Given the description of an element on the screen output the (x, y) to click on. 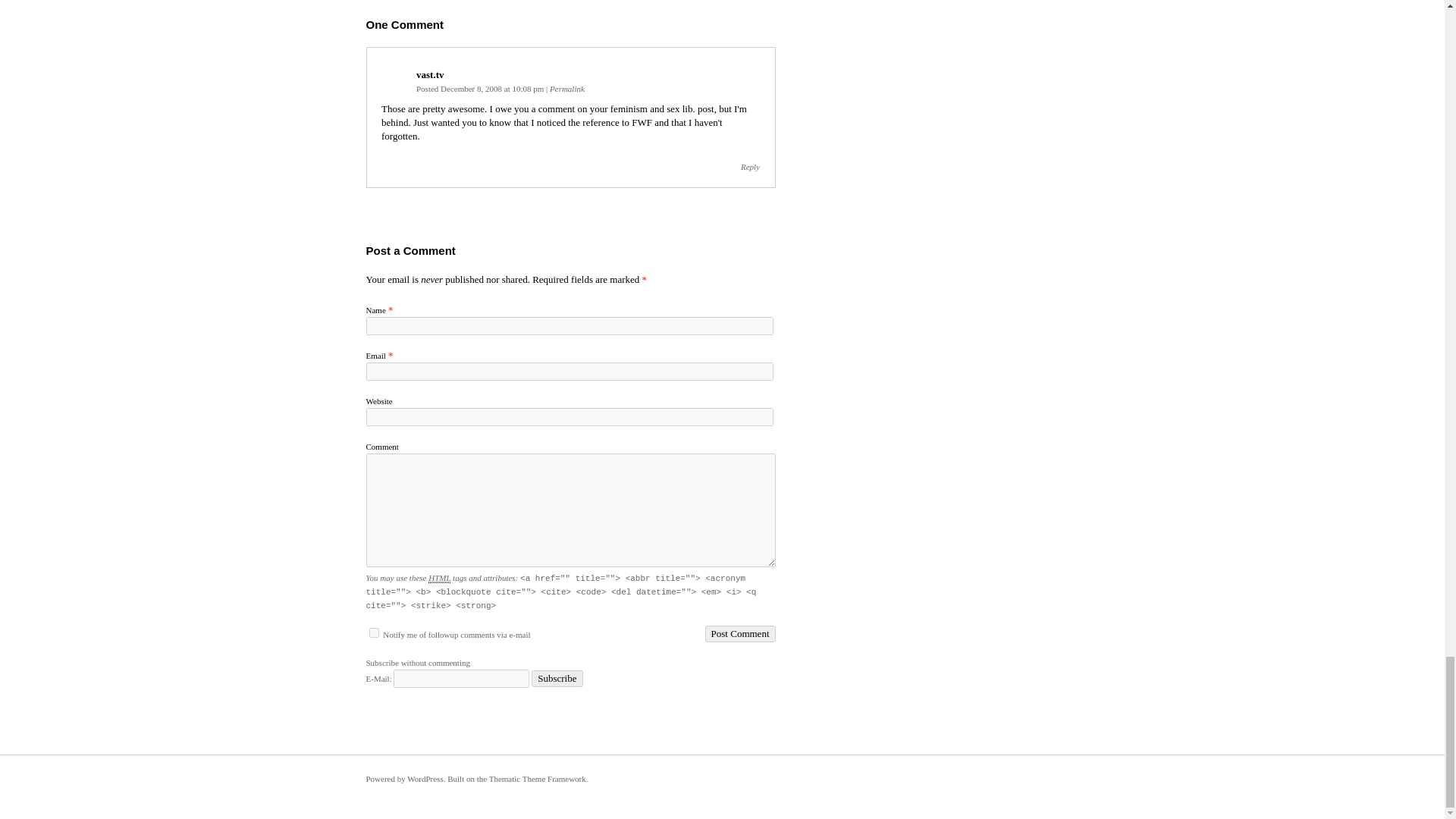
Post Comment (740, 633)
Permalink (567, 88)
Post Comment (740, 633)
Subscribe (556, 678)
Subscribe (556, 678)
subscribe (373, 633)
